Given the description of an element on the screen output the (x, y) to click on. 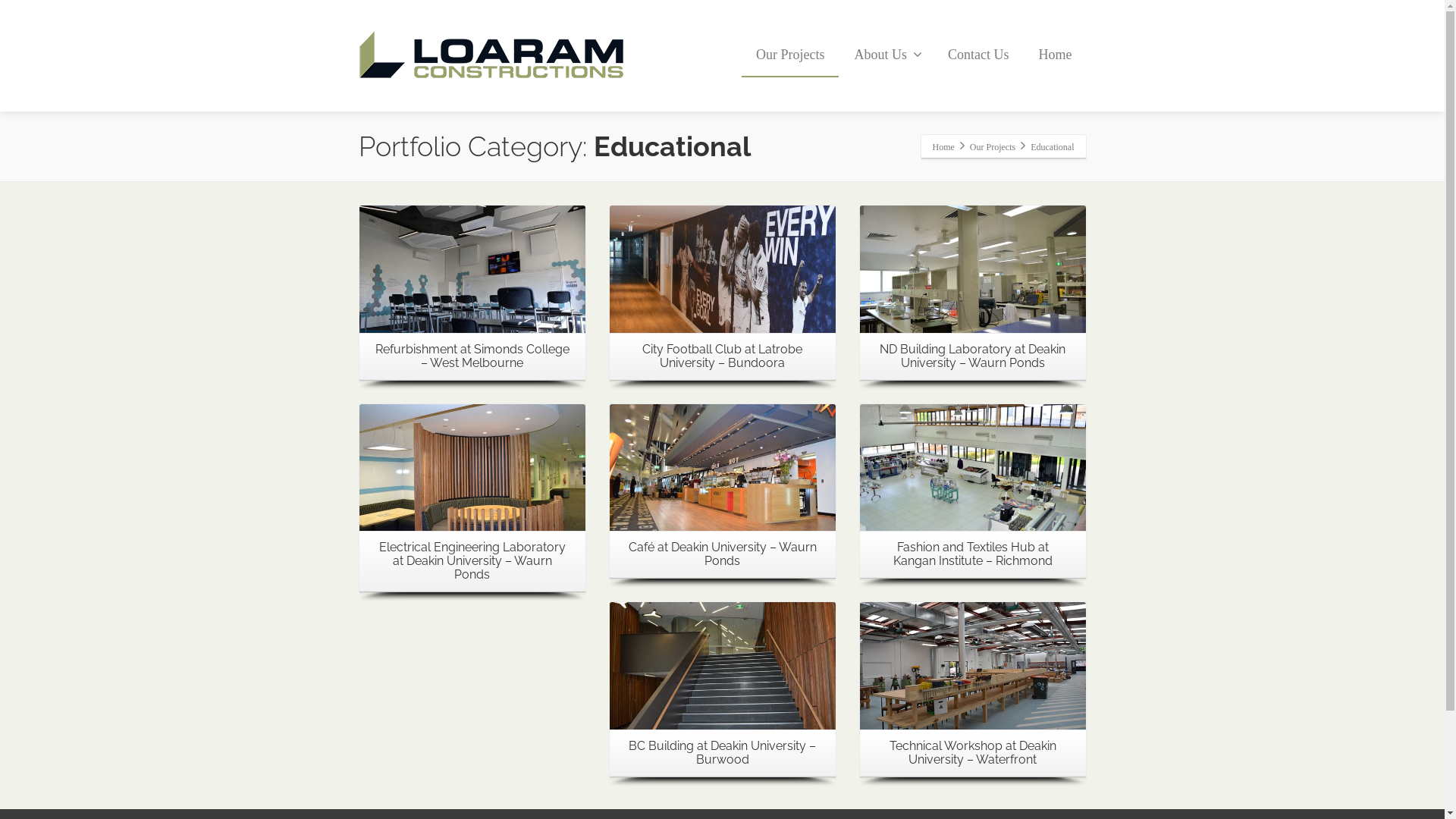
Our Projects Element type: text (789, 55)
About Us Element type: text (885, 55)
Home Element type: text (1054, 55)
Home Element type: text (943, 146)
Our Projects Element type: text (992, 146)
Contact Us Element type: text (978, 55)
